Given the description of an element on the screen output the (x, y) to click on. 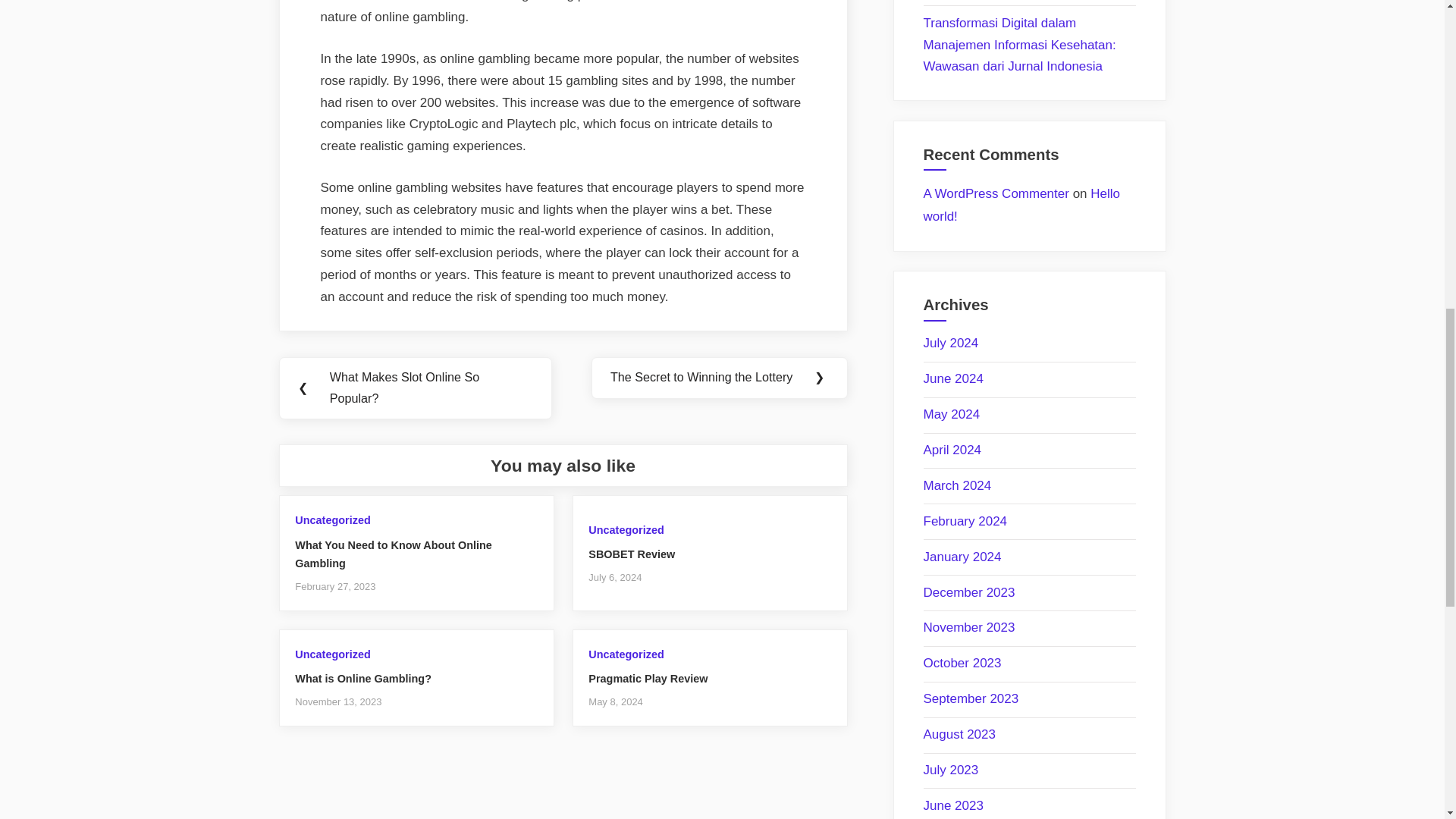
March 2024 (957, 485)
What is Online Gambling? (362, 678)
Uncategorized (332, 520)
November 2023 (968, 626)
June 2024 (953, 378)
A WordPress Commenter (995, 193)
Hello world! (1022, 205)
January 2024 (962, 556)
February 2024 (965, 521)
What You Need to Know About Online Gambling (393, 554)
SBOBET Review (631, 553)
Pragmatic Play Review (647, 678)
September 2023 (971, 698)
May 2024 (951, 414)
